Given the description of an element on the screen output the (x, y) to click on. 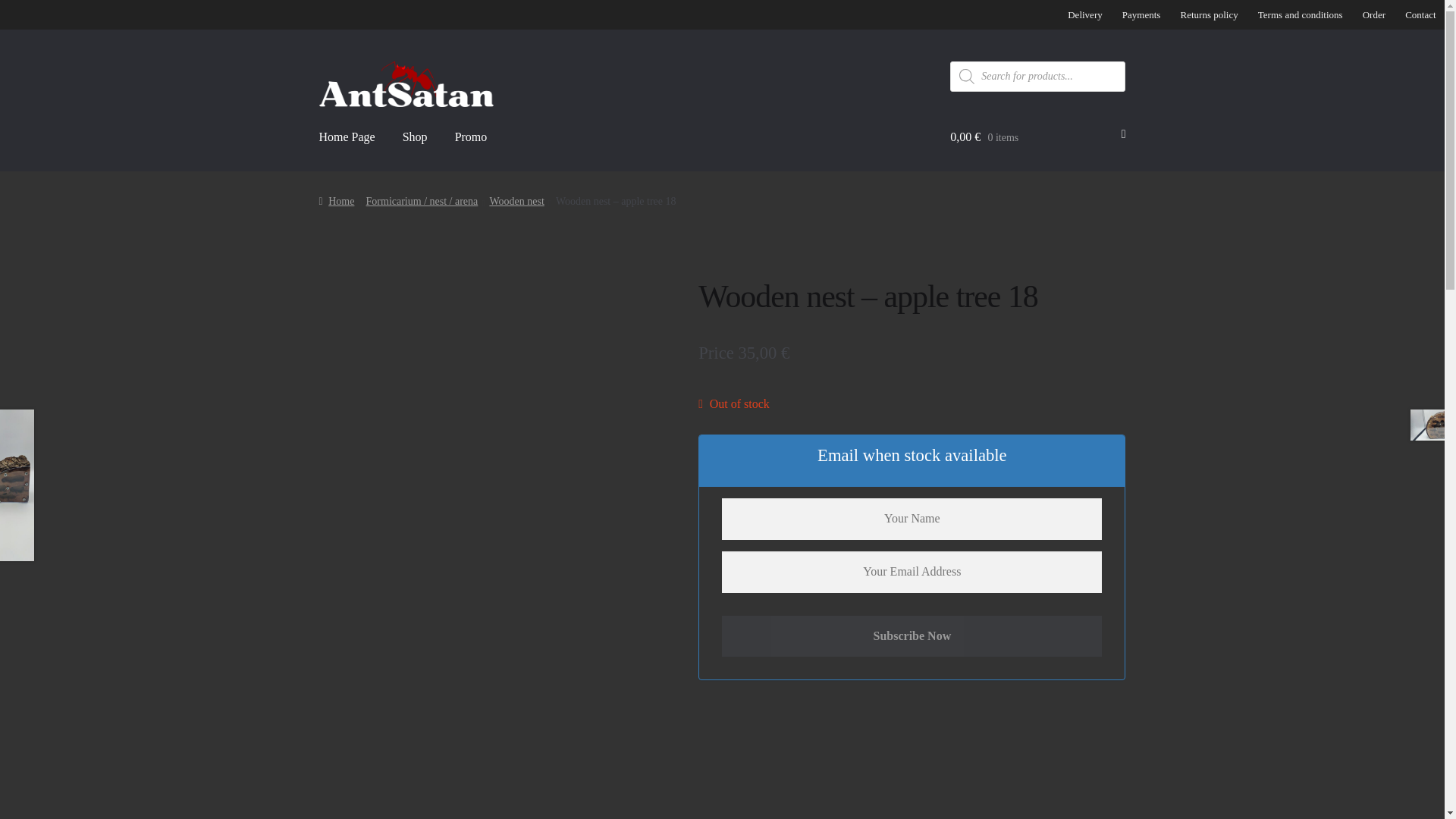
Promo (470, 147)
Payments (1141, 14)
Subscribe Now (912, 636)
Wooden nest (516, 201)
Terms and conditions (1300, 14)
Subscribe Now (912, 636)
Home Page (347, 147)
Returns policy (1209, 14)
Home (336, 201)
View your shopping cart (1037, 147)
